Given the description of an element on the screen output the (x, y) to click on. 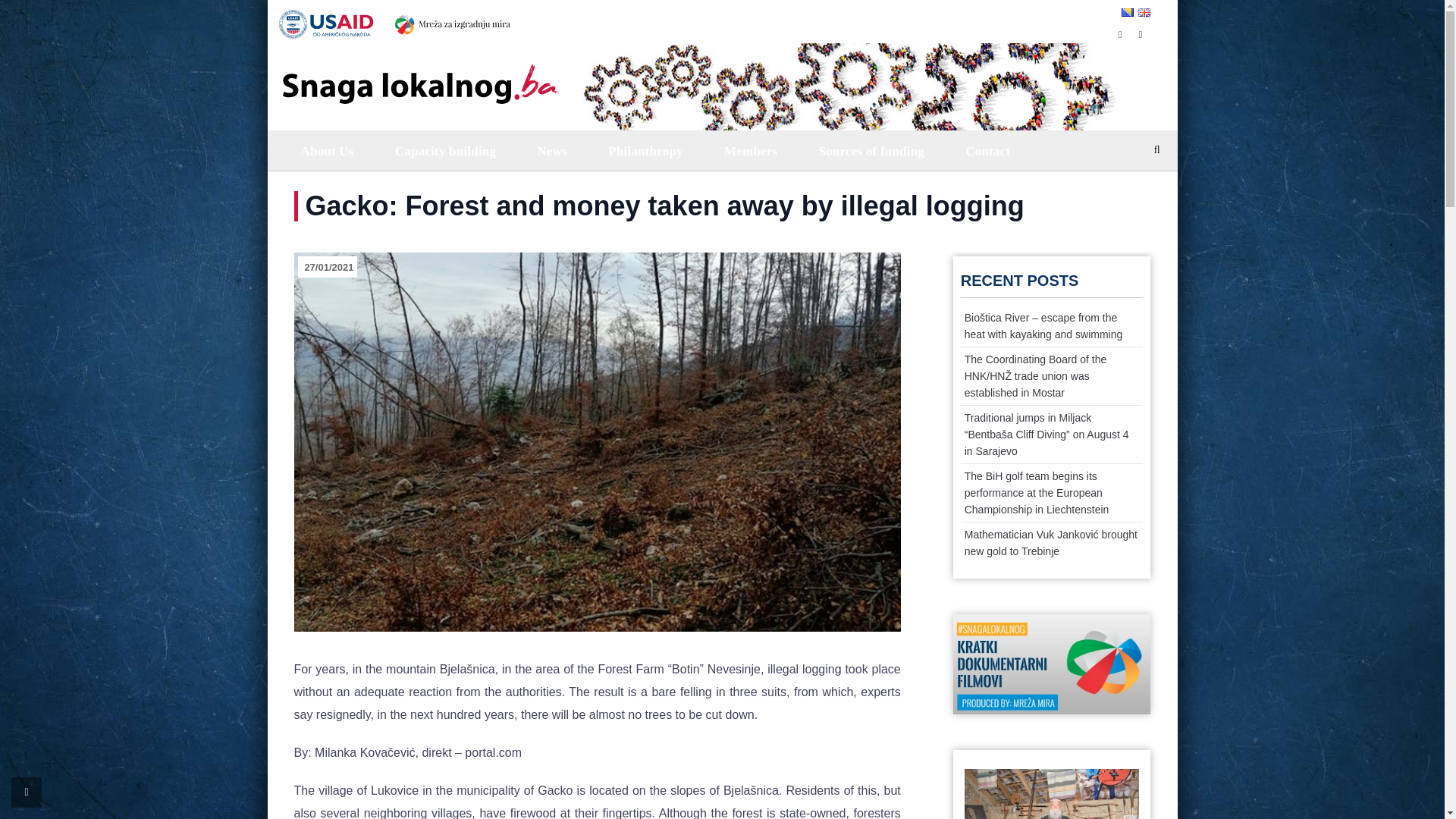
Members (748, 150)
Snaga lokalnog (419, 73)
Capacity building (443, 150)
Search (1144, 191)
Sources of funding (869, 150)
About Us (325, 150)
News (550, 150)
Philanthropy (643, 150)
Contact (986, 150)
